Given the description of an element on the screen output the (x, y) to click on. 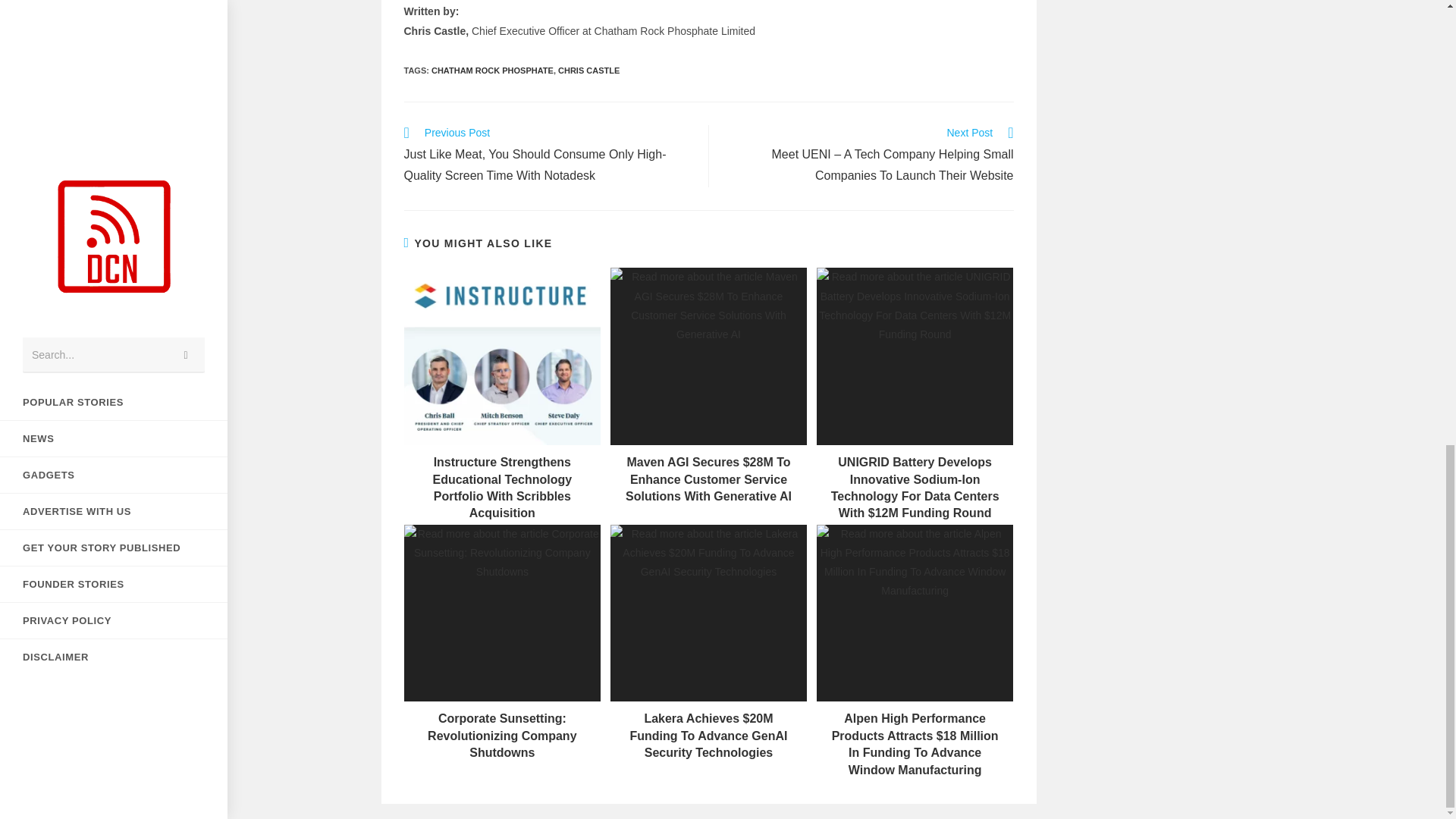
CHATHAM ROCK PHOSPHATE (491, 70)
Corporate Sunsetting: Revolutionizing Company Shutdowns (501, 735)
CHRIS CASTLE (588, 70)
